Given the description of an element on the screen output the (x, y) to click on. 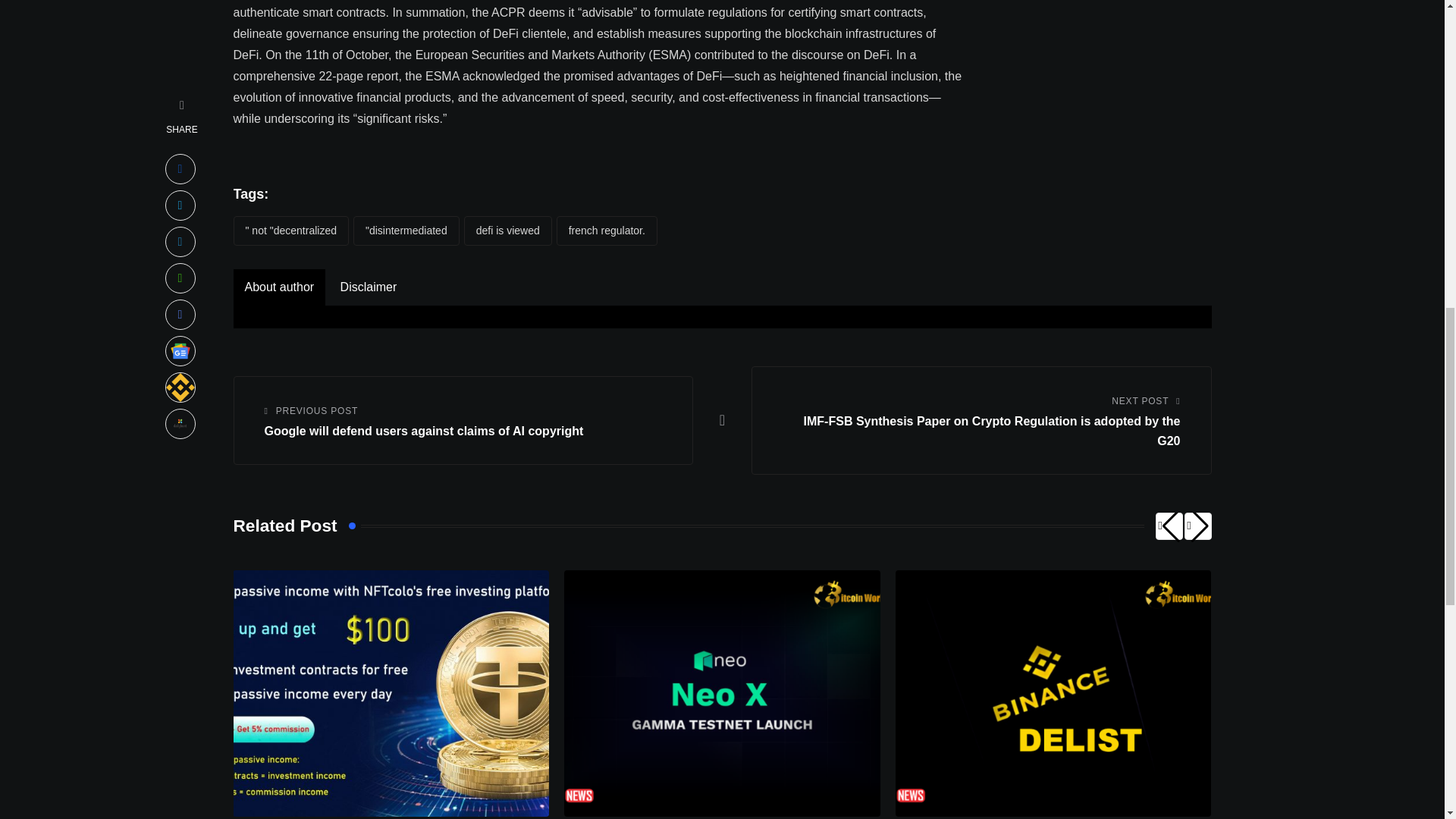
Google News (180, 67)
Dailyhunt (180, 140)
Behance Feed (180, 103)
